Given the description of an element on the screen output the (x, y) to click on. 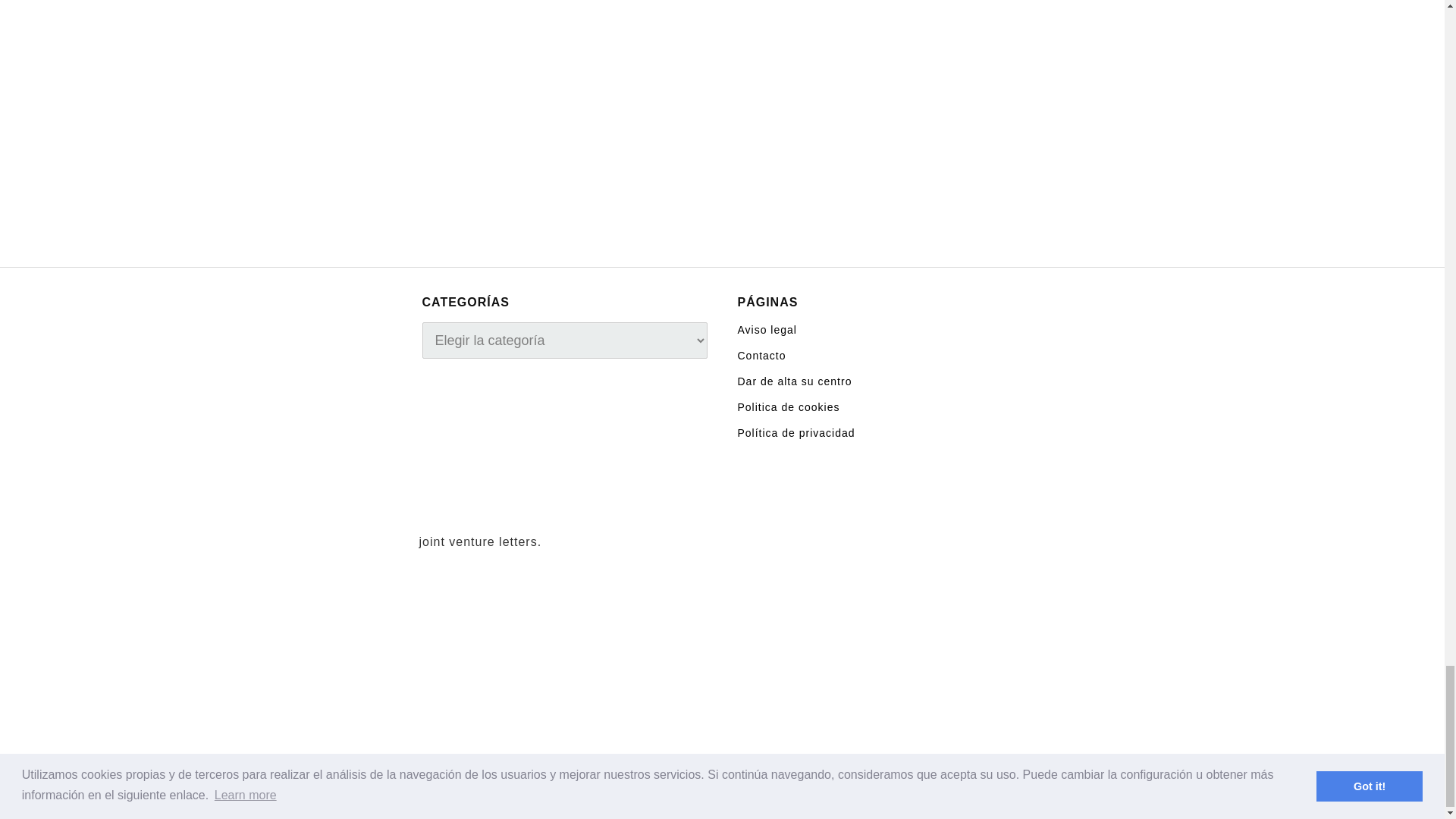
Aviso legal (766, 328)
Contacto (761, 354)
Dar de alta su centro (793, 380)
Politica de cookies (788, 406)
